Given the description of an element on the screen output the (x, y) to click on. 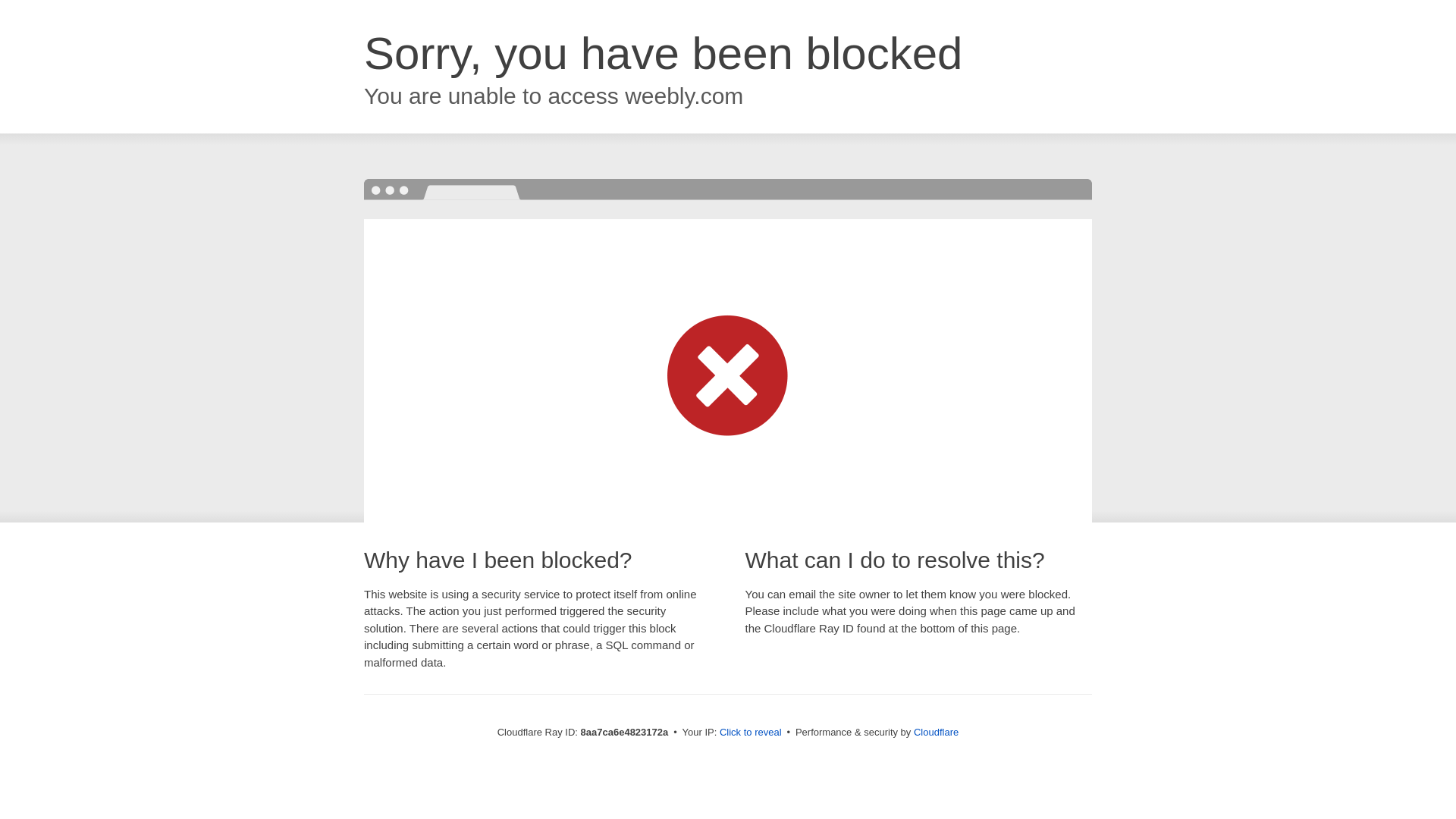
Click to reveal (750, 732)
Cloudflare (936, 731)
